Given the description of an element on the screen output the (x, y) to click on. 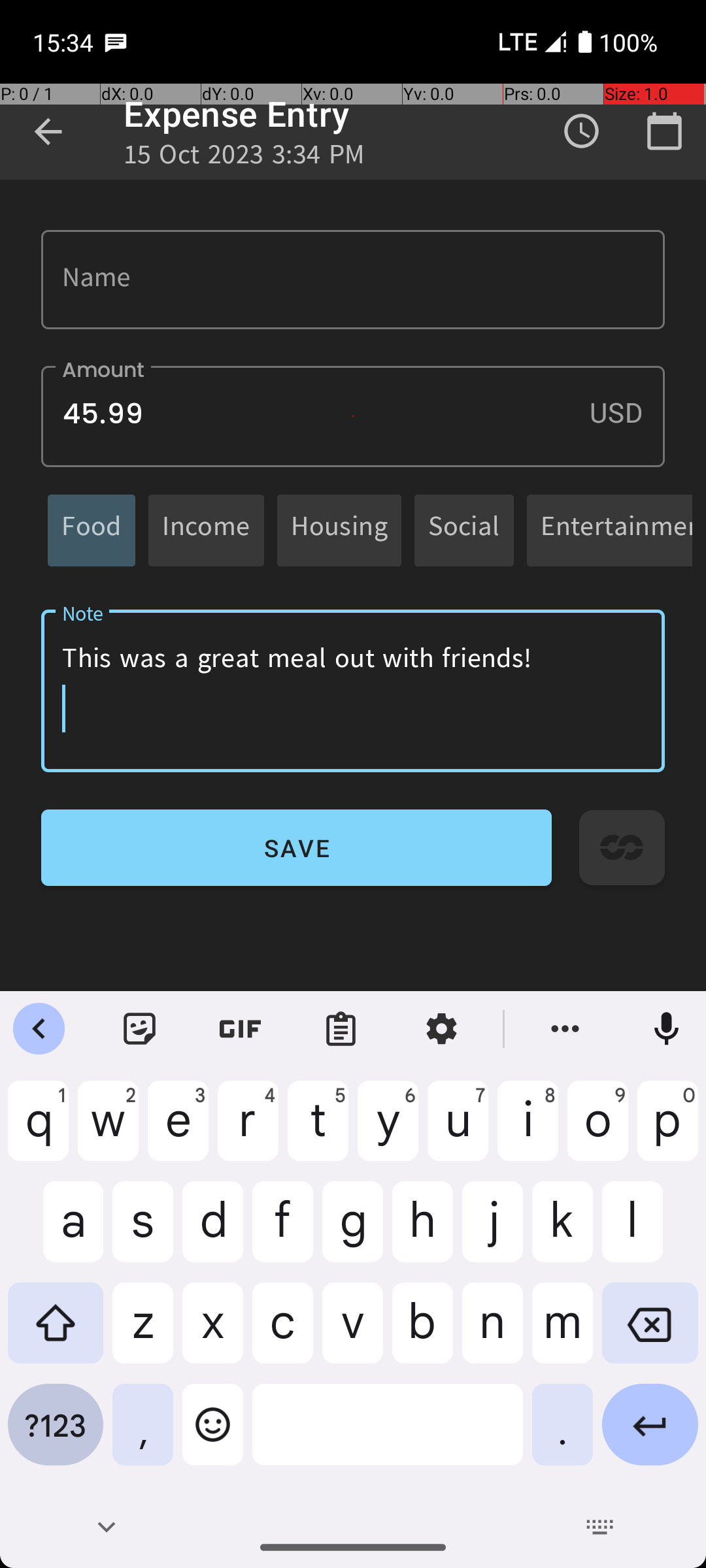
45.99 Element type: android.widget.EditText (352, 416)
This was a great meal out with friends!
 Element type: android.widget.EditText (352, 690)
